Given the description of an element on the screen output the (x, y) to click on. 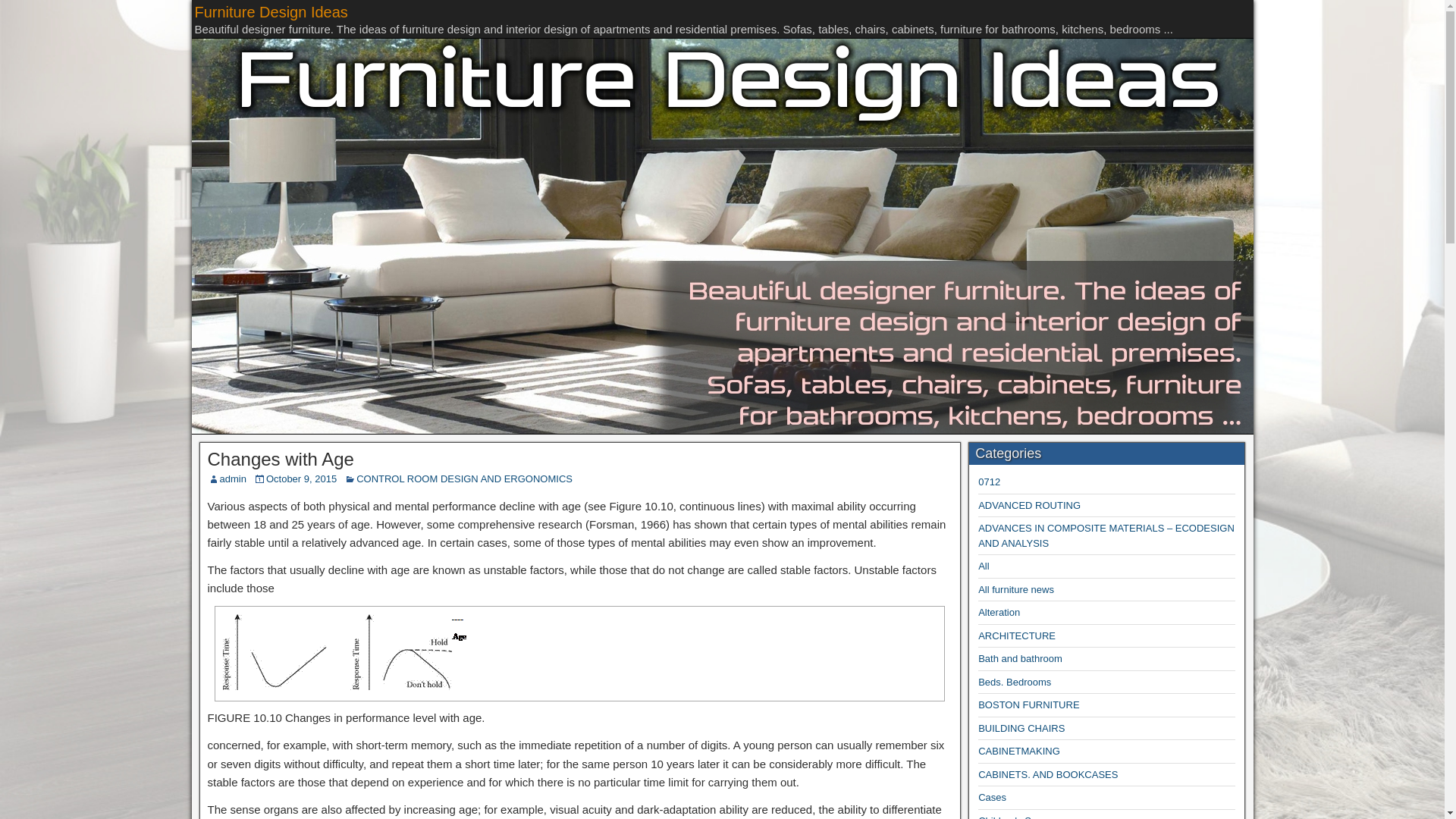
0712 (989, 481)
BUILDING CHAIRS (1021, 727)
ARCHITECTURE (1016, 635)
BOSTON FURNITURE (1028, 704)
All furniture news (1016, 589)
CABINETMAKING (1018, 750)
Cases (992, 797)
Alteration (999, 612)
October 9, 2015 (301, 478)
All (983, 565)
CABINETS. AND BOOKCASES (1048, 774)
Changes with Age (346, 651)
ADVANCED ROUTING (1029, 505)
Beds. Bedrooms (1014, 681)
Changes with Age (280, 458)
